Given the description of an element on the screen output the (x, y) to click on. 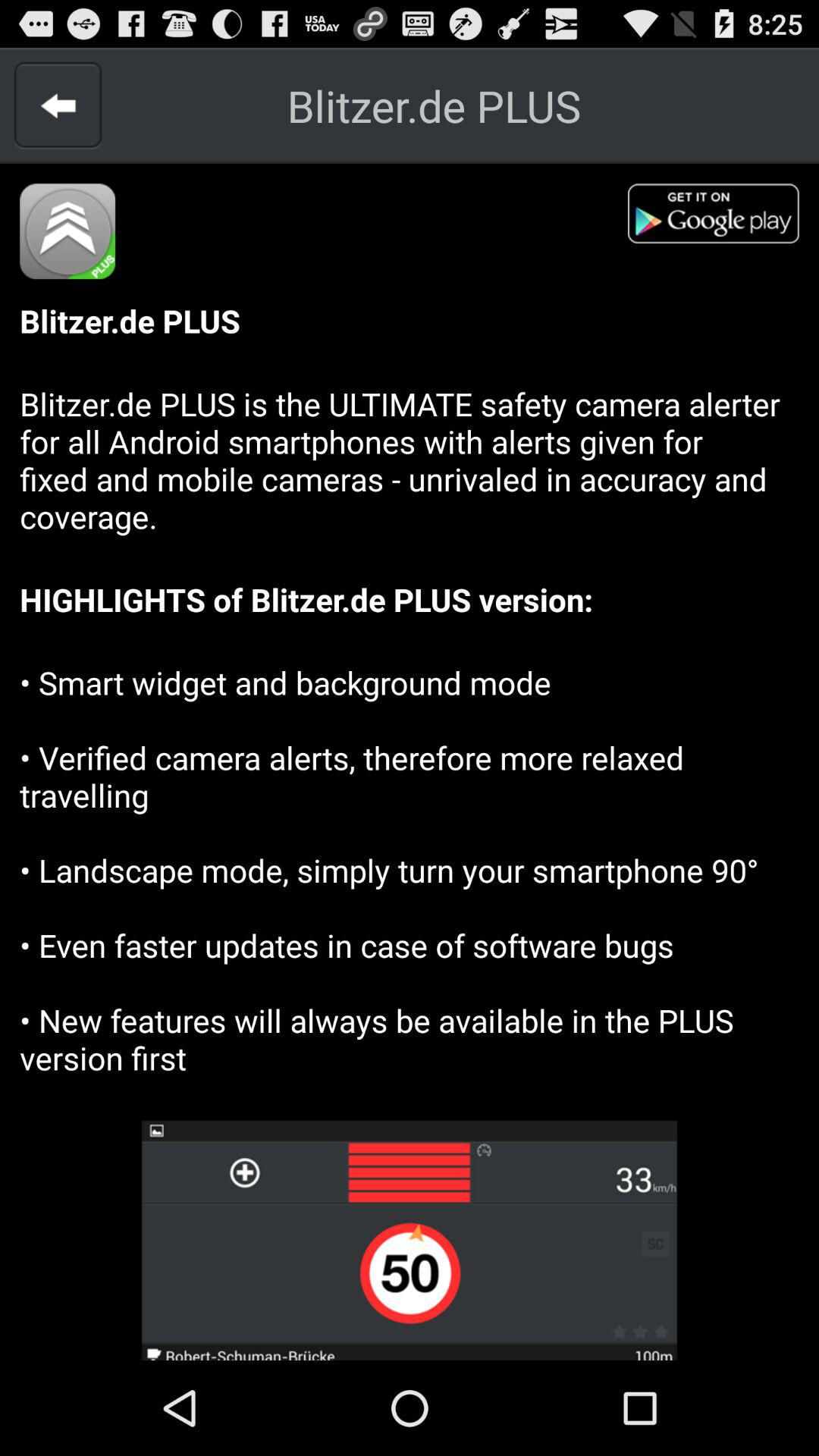
go back (57, 105)
